Given the description of an element on the screen output the (x, y) to click on. 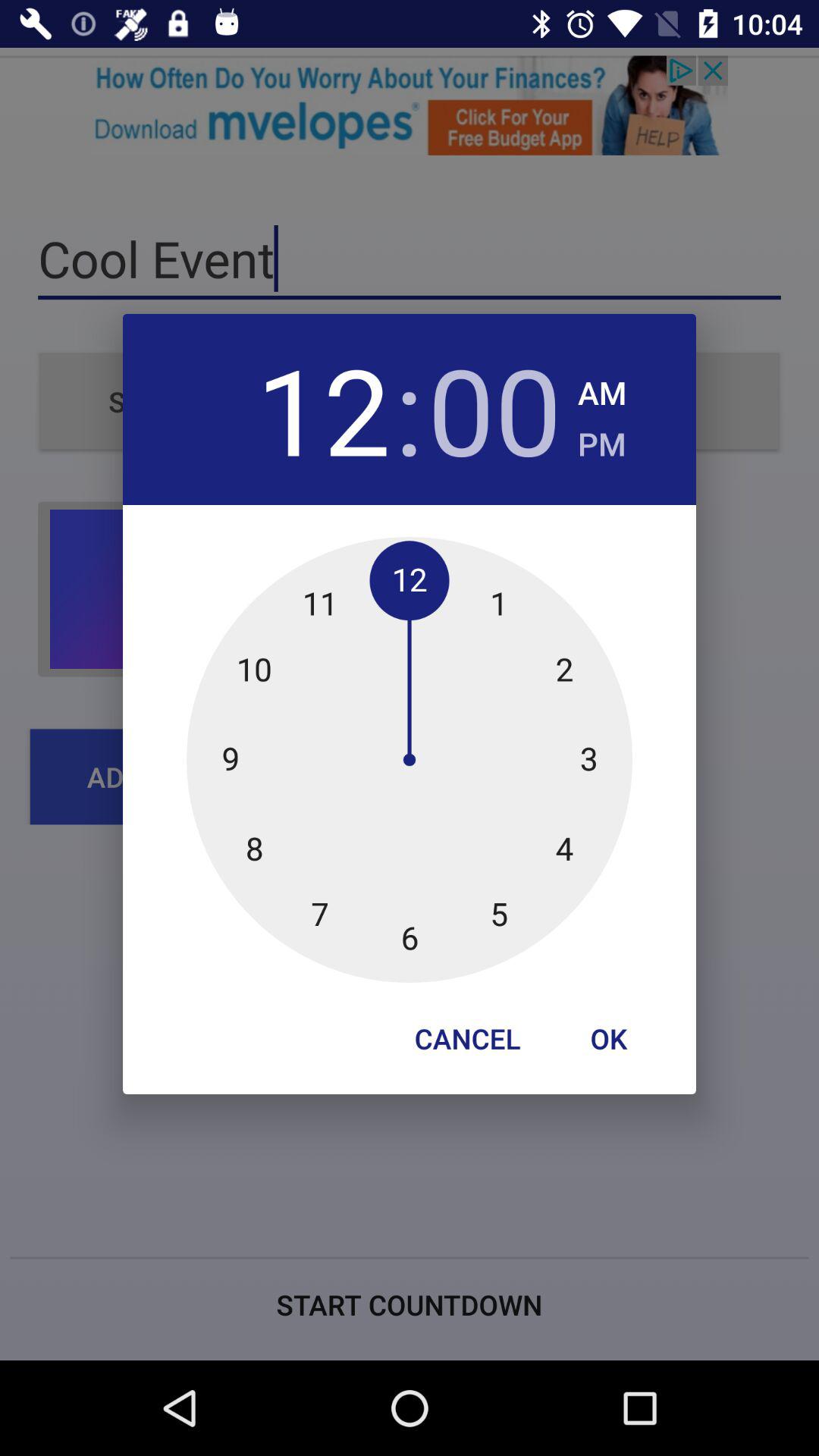
open the 12 icon (323, 408)
